Given the description of an element on the screen output the (x, y) to click on. 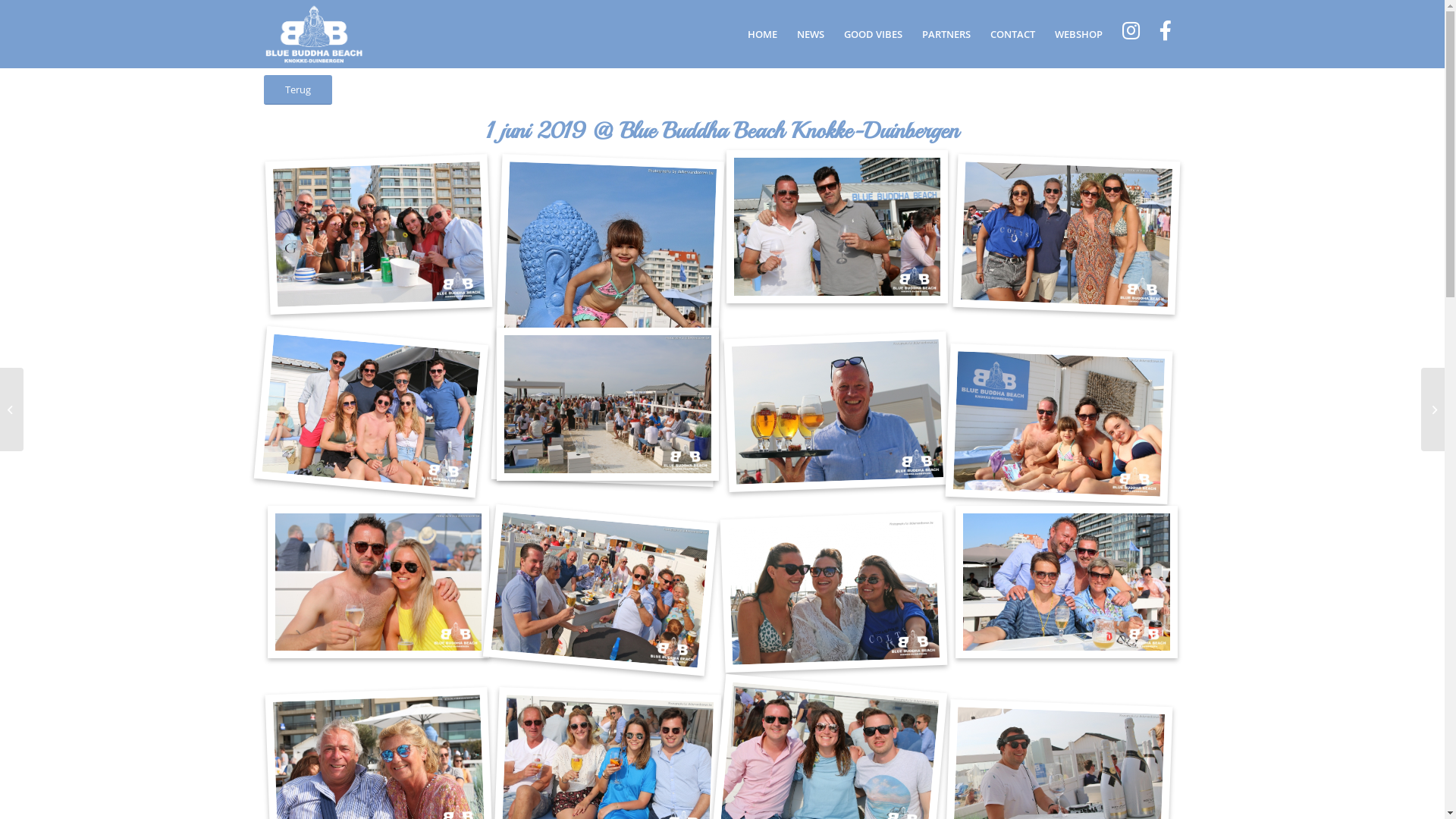
Terug Element type: text (297, 89)
HOME Element type: text (761, 34)
PARTNERS Element type: text (945, 34)
GOOD VIBES Element type: text (873, 34)
NEWS Element type: text (810, 34)
CONTACT Element type: text (1011, 34)
WEBSHOP Element type: text (1078, 34)
